Given the description of an element on the screen output the (x, y) to click on. 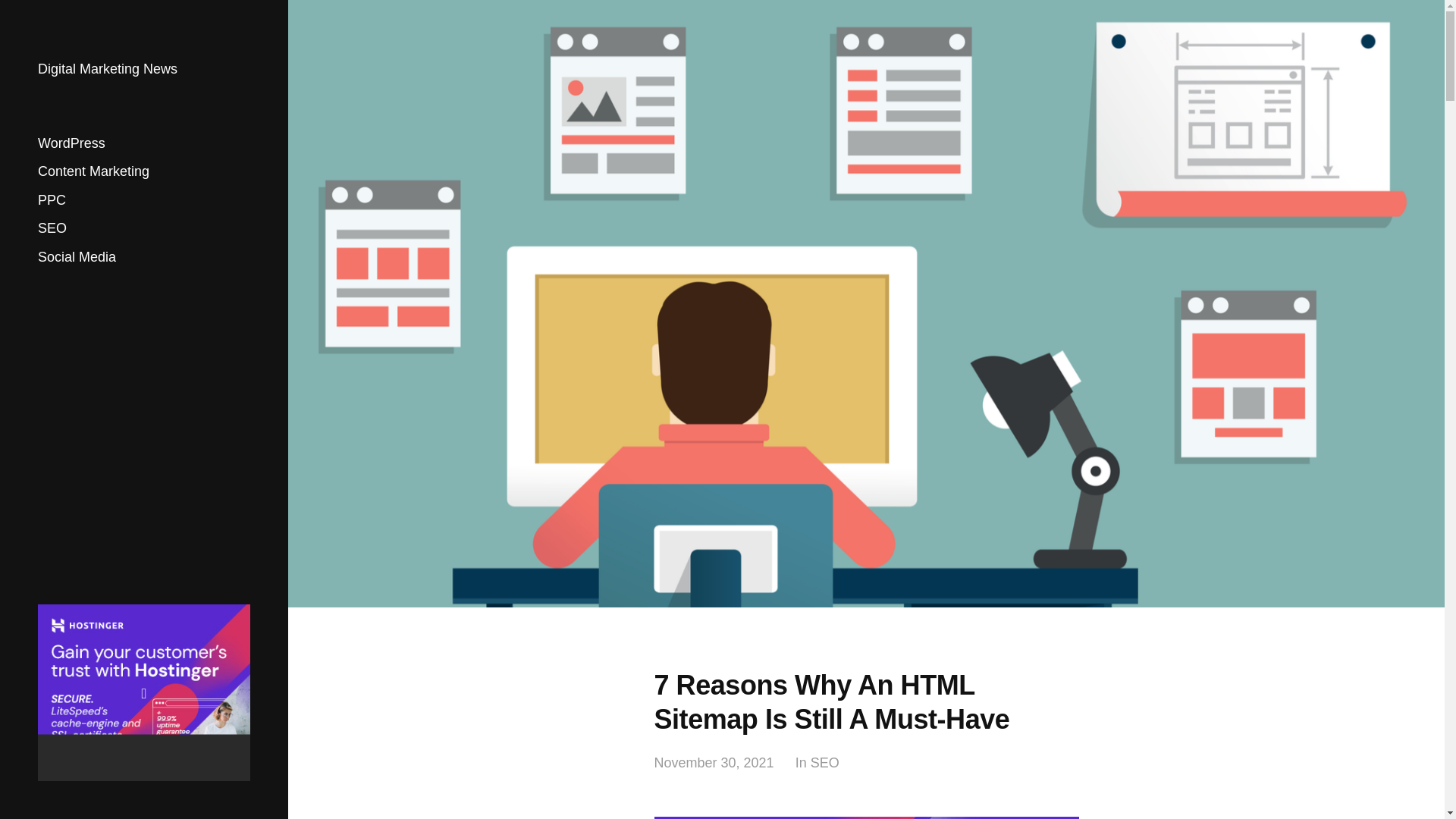
PPC (51, 200)
SEO (825, 763)
November 30, 2021 (713, 763)
Digital Marketing News (107, 68)
Social Media (76, 256)
SEO (51, 228)
Content Marketing (93, 171)
WordPress (70, 142)
